Given the description of an element on the screen output the (x, y) to click on. 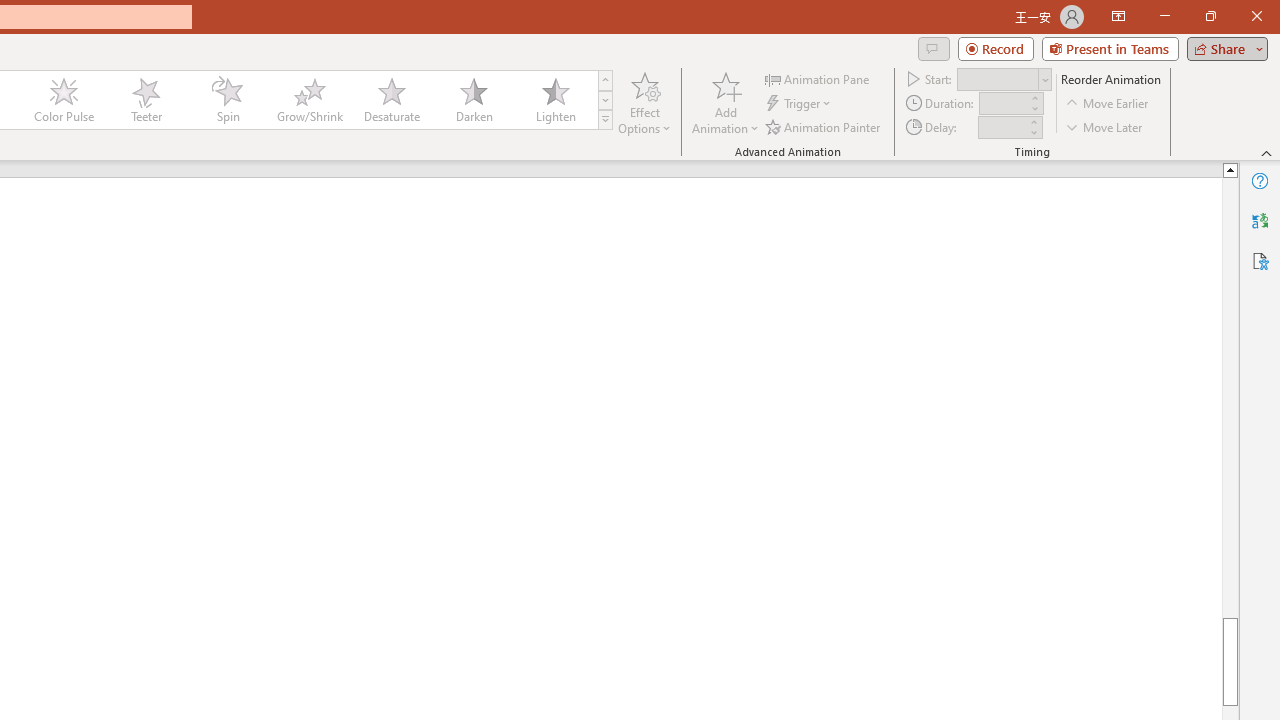
More (1033, 121)
Teeter (145, 100)
Animation Styles (605, 120)
Trigger (799, 103)
Animation Delay (1002, 127)
Darken (473, 100)
